Given the description of an element on the screen output the (x, y) to click on. 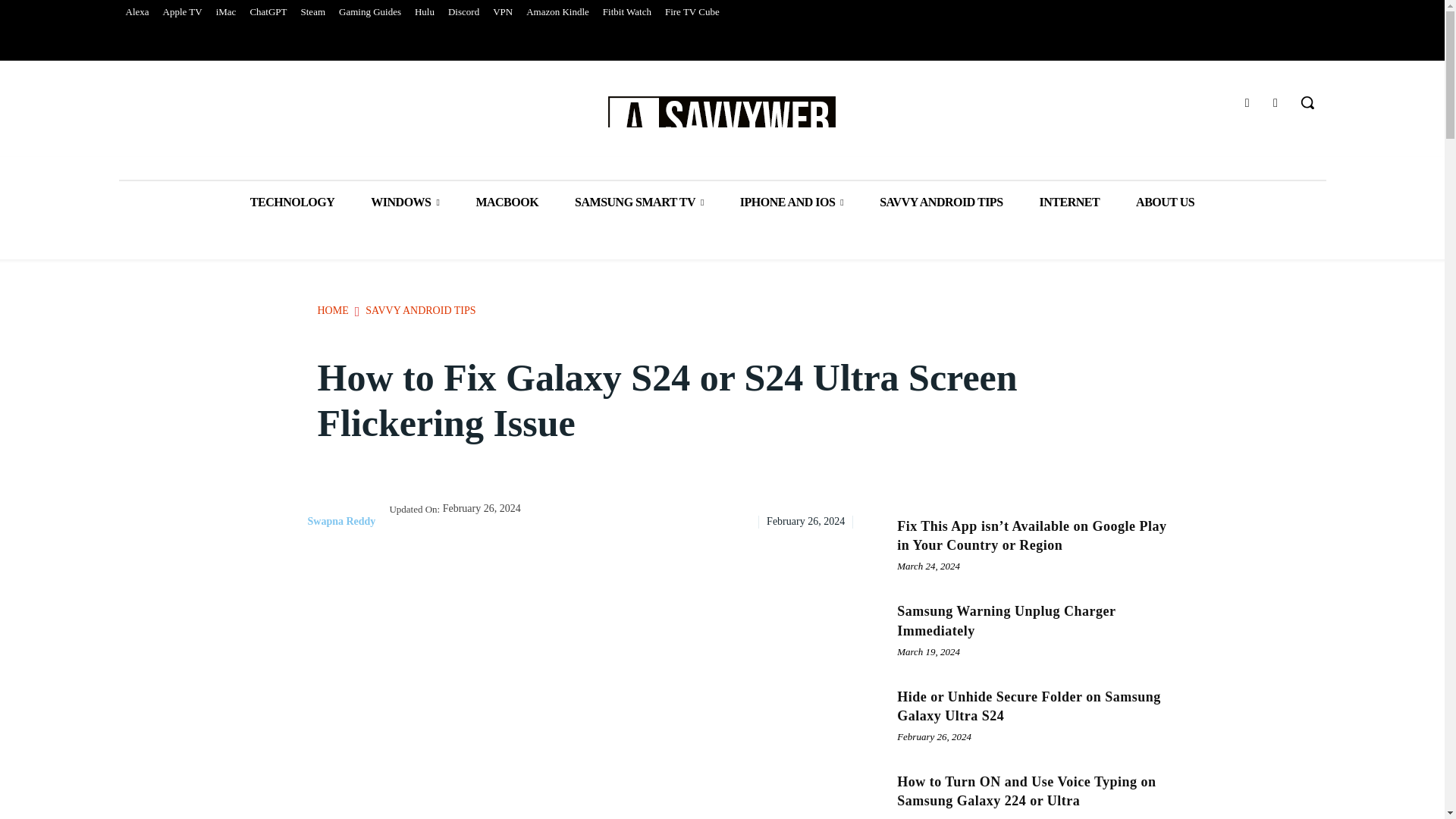
iMac (226, 12)
VPN (502, 12)
Amazon Kindle (557, 12)
Fitbit Watch (626, 12)
Hulu (424, 12)
Fire TV Cube (692, 12)
A Savvy Web (721, 121)
ChatGPT (268, 12)
Discord (463, 12)
Apple TV (182, 12)
